Given the description of an element on the screen output the (x, y) to click on. 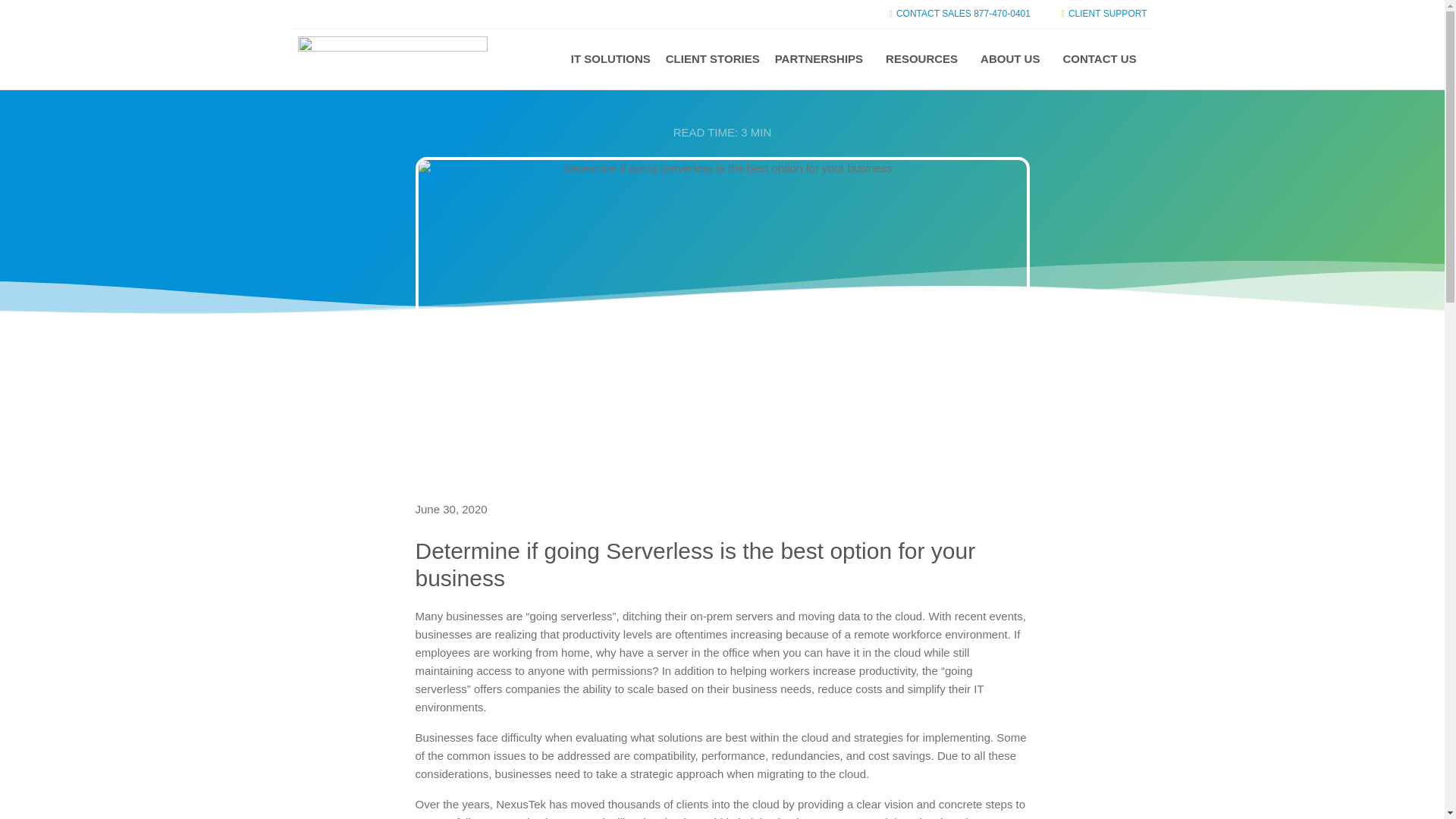
IT SOLUTIONS (607, 58)
CLIENT SUPPORT (1099, 13)
CONTACT SALES 877-470-0401 (955, 13)
